Given the description of an element on the screen output the (x, y) to click on. 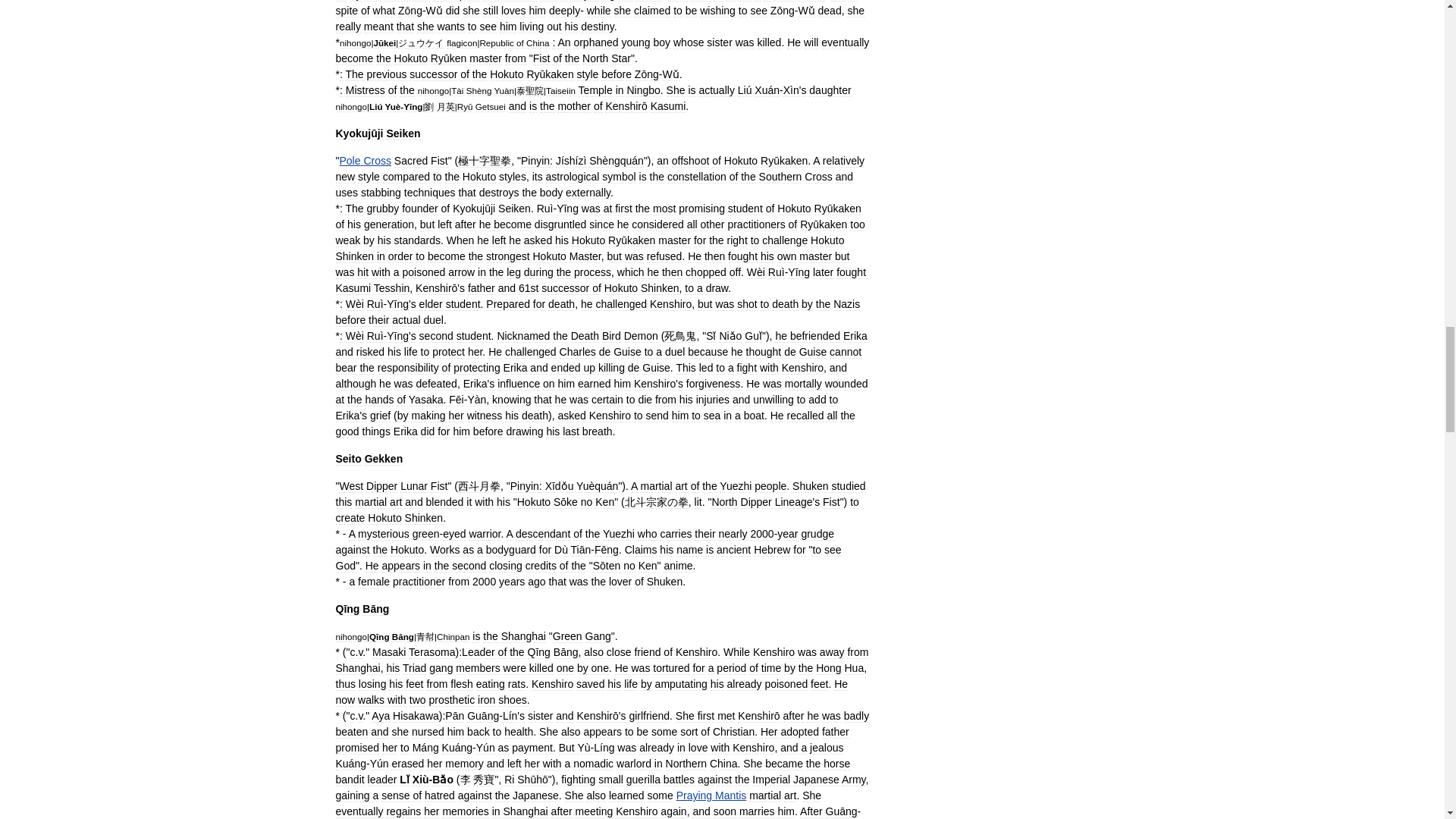
Pole Cross (364, 160)
Praying Mantis (711, 795)
